Given the description of an element on the screen output the (x, y) to click on. 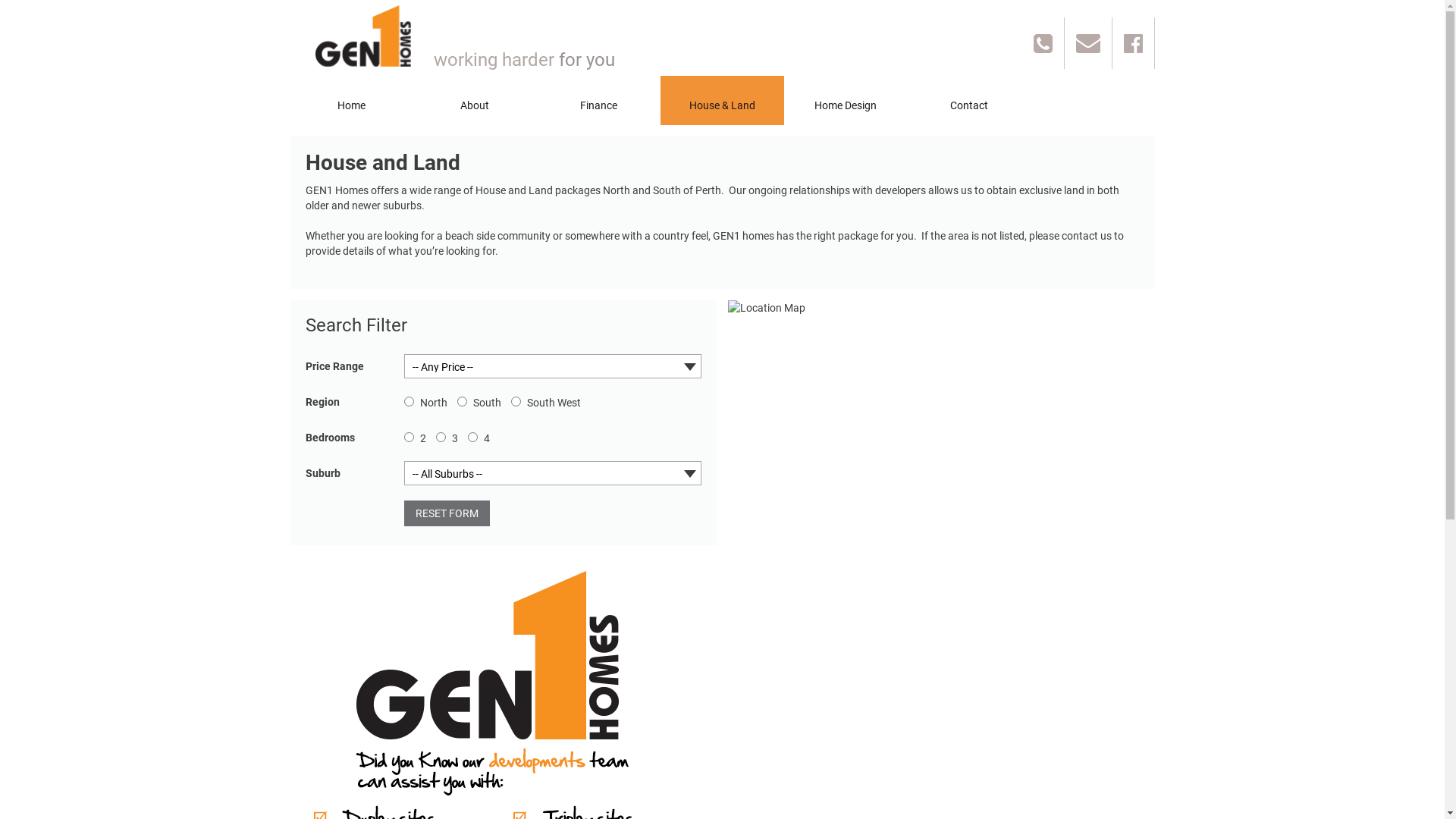
RESET FORM Element type: text (446, 513)
About Element type: text (474, 105)
Contact Element type: text (968, 105)
Finance Element type: text (598, 105)
Home Design Element type: text (845, 105)
Home Element type: text (350, 105)
House & Land Element type: text (721, 100)
